Given the description of an element on the screen output the (x, y) to click on. 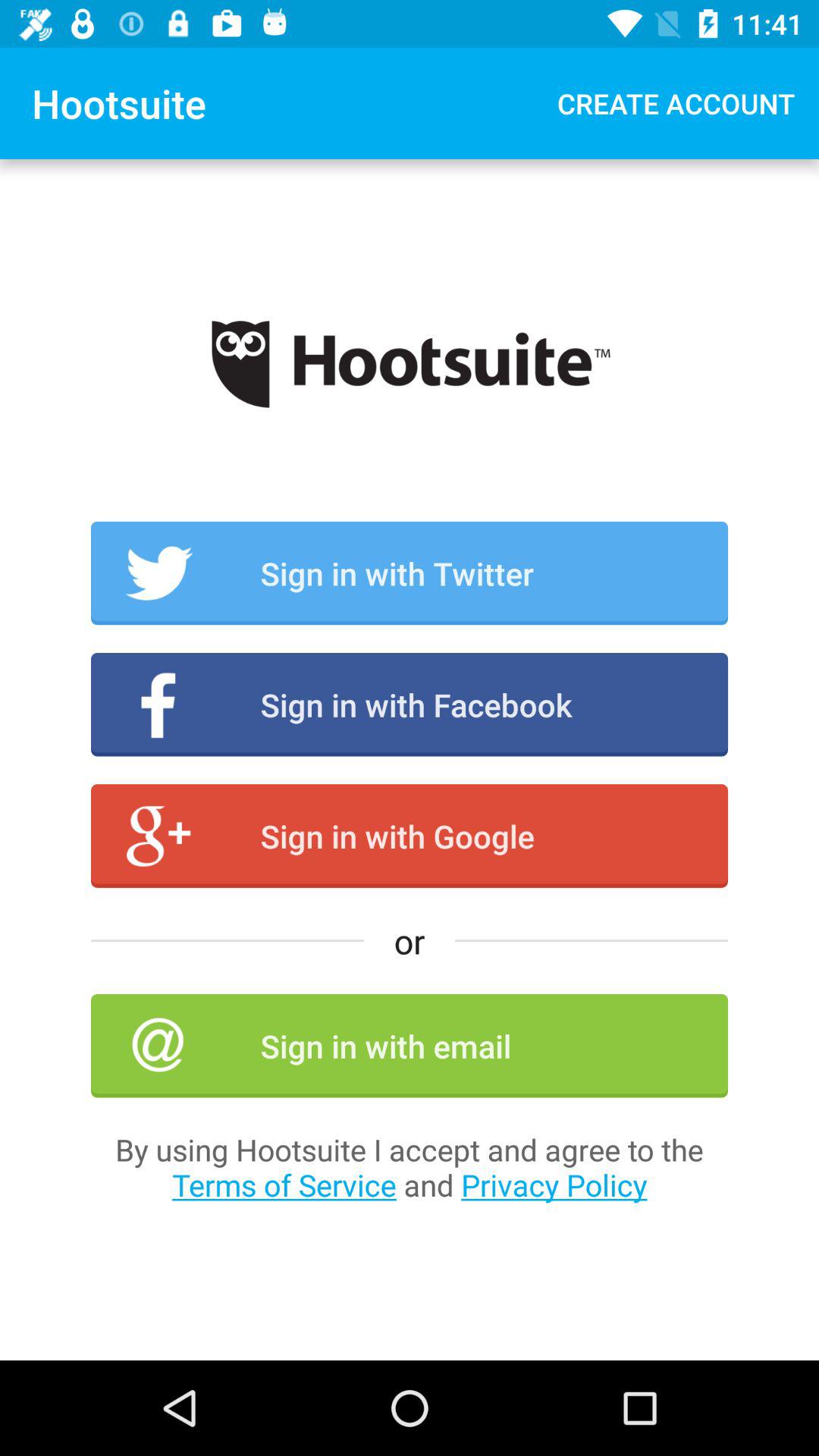
launch the app to the right of the hootsuite icon (676, 103)
